Given the description of an element on the screen output the (x, y) to click on. 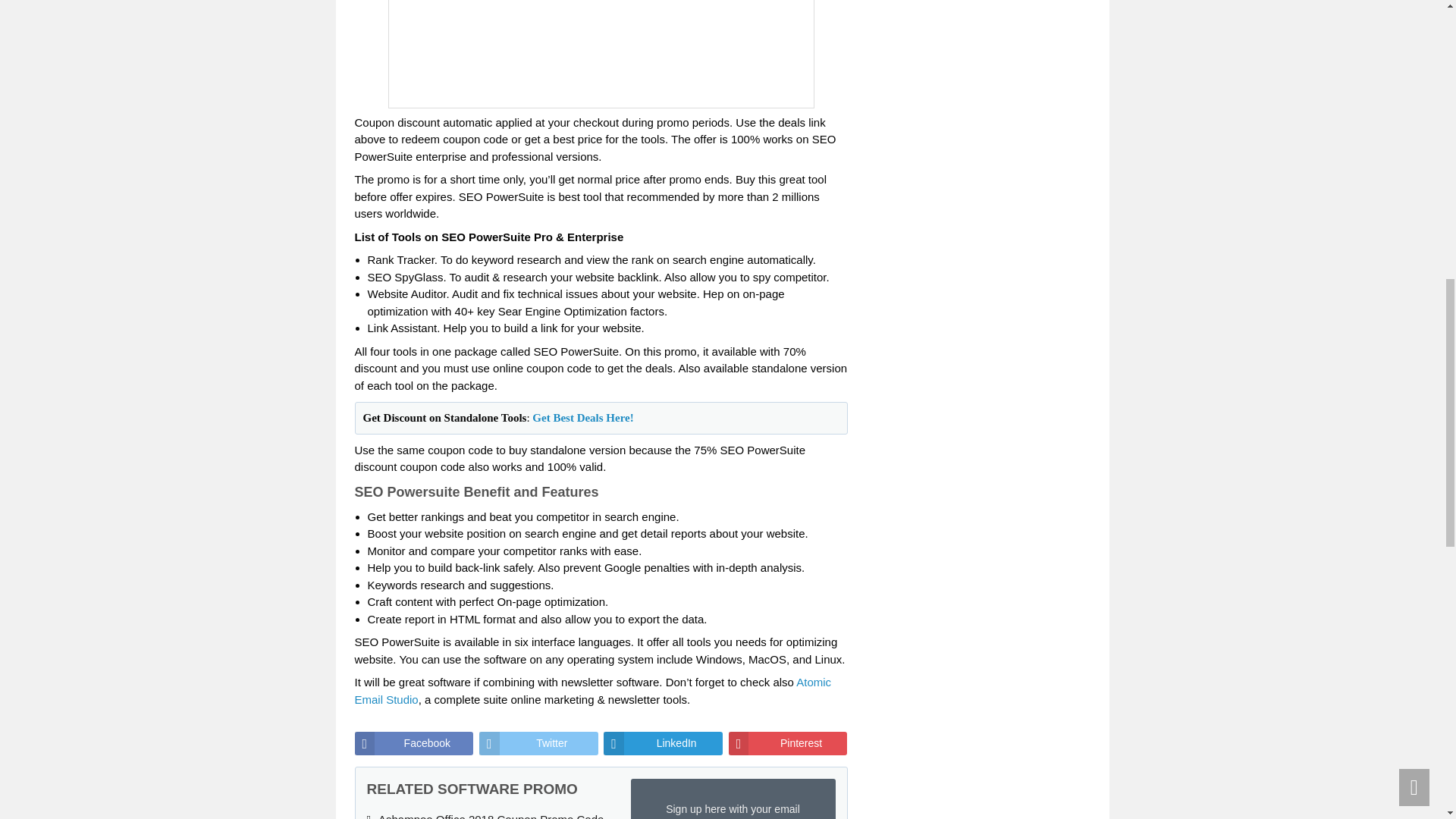
Pinterest (788, 743)
Facebook (414, 743)
Twitter (538, 743)
Get Best Deals Here! (582, 417)
Facebook Share (414, 743)
LinkedIn (663, 743)
Atomic Email Studio (593, 690)
Twitter Tweet (538, 743)
